Given the description of an element on the screen output the (x, y) to click on. 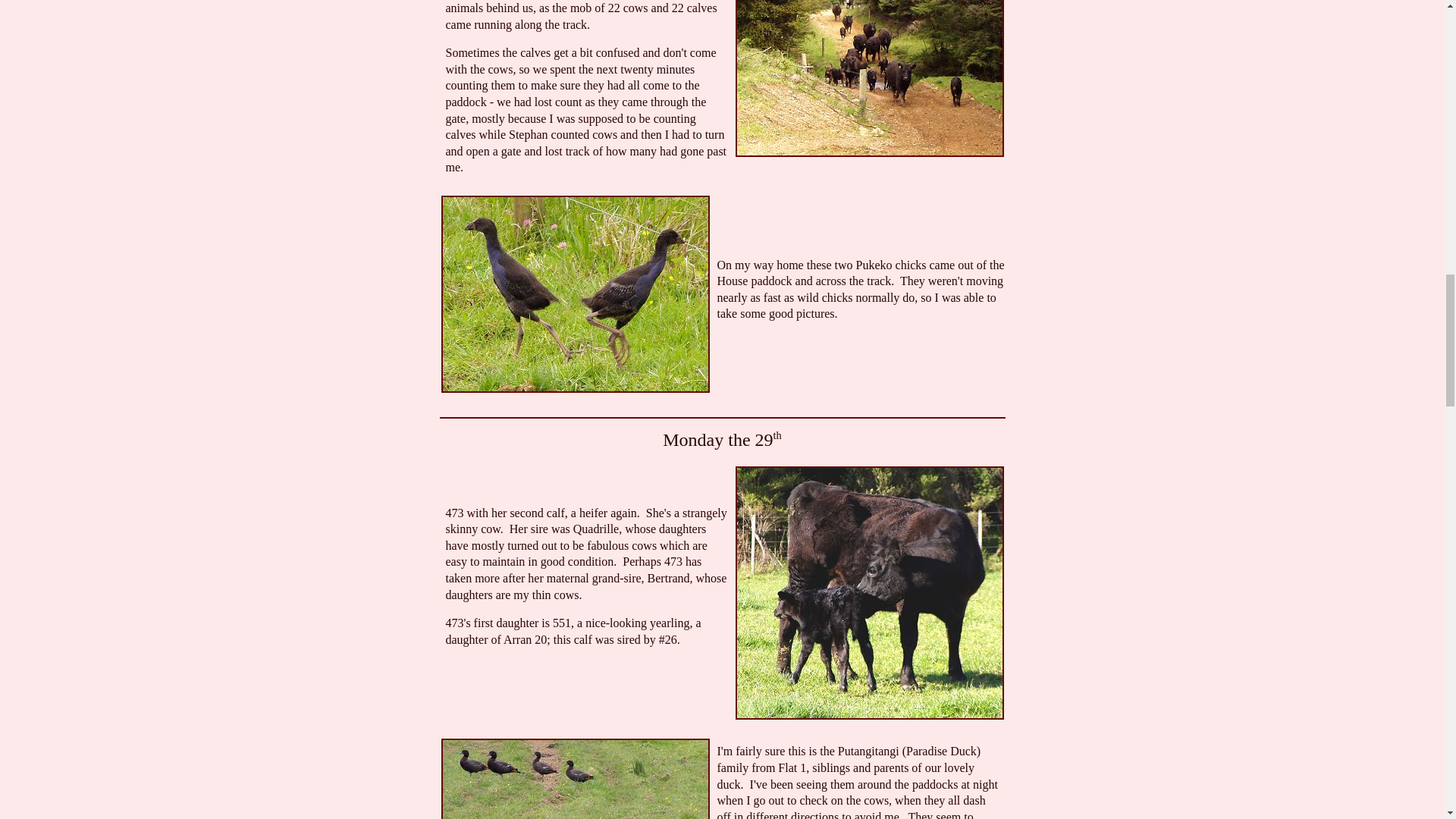
cattle on the move (869, 78)
473 and calf (869, 592)
two Pukeko chicks (575, 294)
Putangitangi (575, 778)
